Given the description of an element on the screen output the (x, y) to click on. 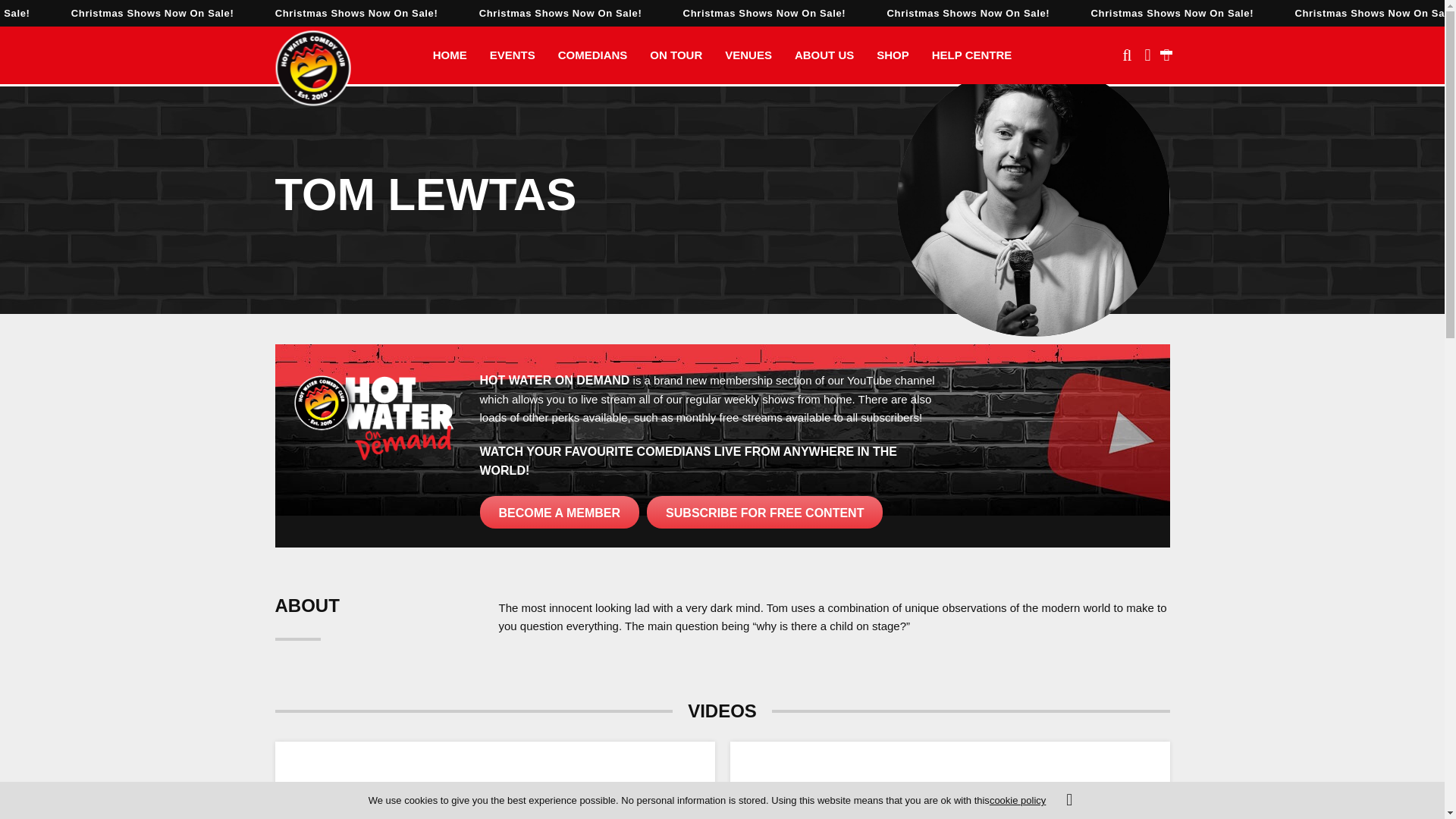
ABOUT US (823, 55)
cookie policy (1017, 799)
EVENTS (513, 55)
VENUES (748, 55)
HOME (450, 55)
Pixus UK (312, 67)
COMEDIANS (593, 55)
SUBSCRIBE FOR FREE CONTENT (764, 512)
ON TOUR (676, 55)
Go to homepage (312, 67)
HELP CENTRE (971, 55)
SHOP (892, 55)
BECOME A MEMBER (559, 512)
